Given the description of an element on the screen output the (x, y) to click on. 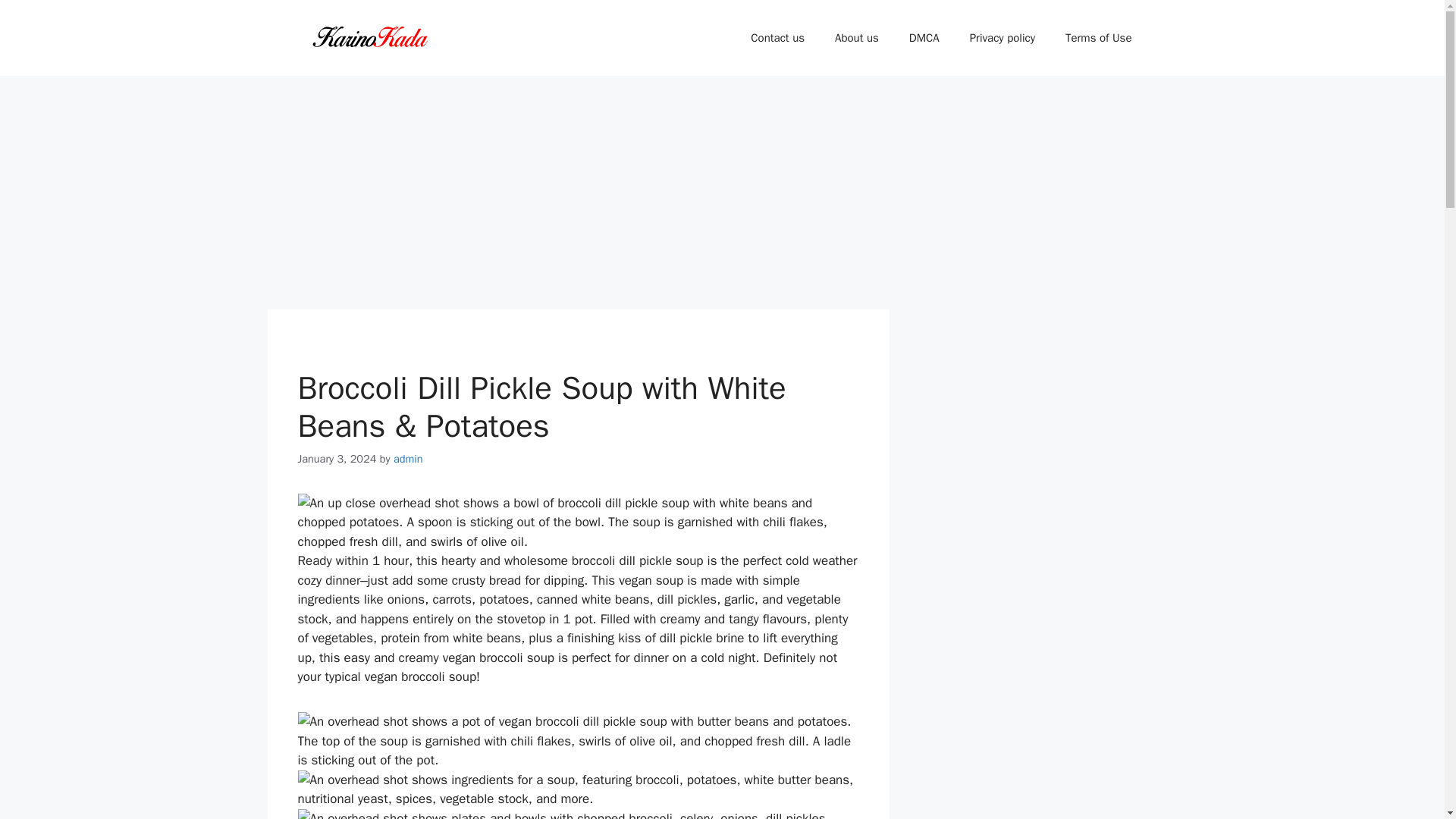
View all posts by admin (408, 459)
Advertisement (577, 196)
Privacy policy (1002, 37)
Terms of Use (1098, 37)
About us (856, 37)
Contact us (777, 37)
admin (408, 459)
DMCA (924, 37)
